Given the description of an element on the screen output the (x, y) to click on. 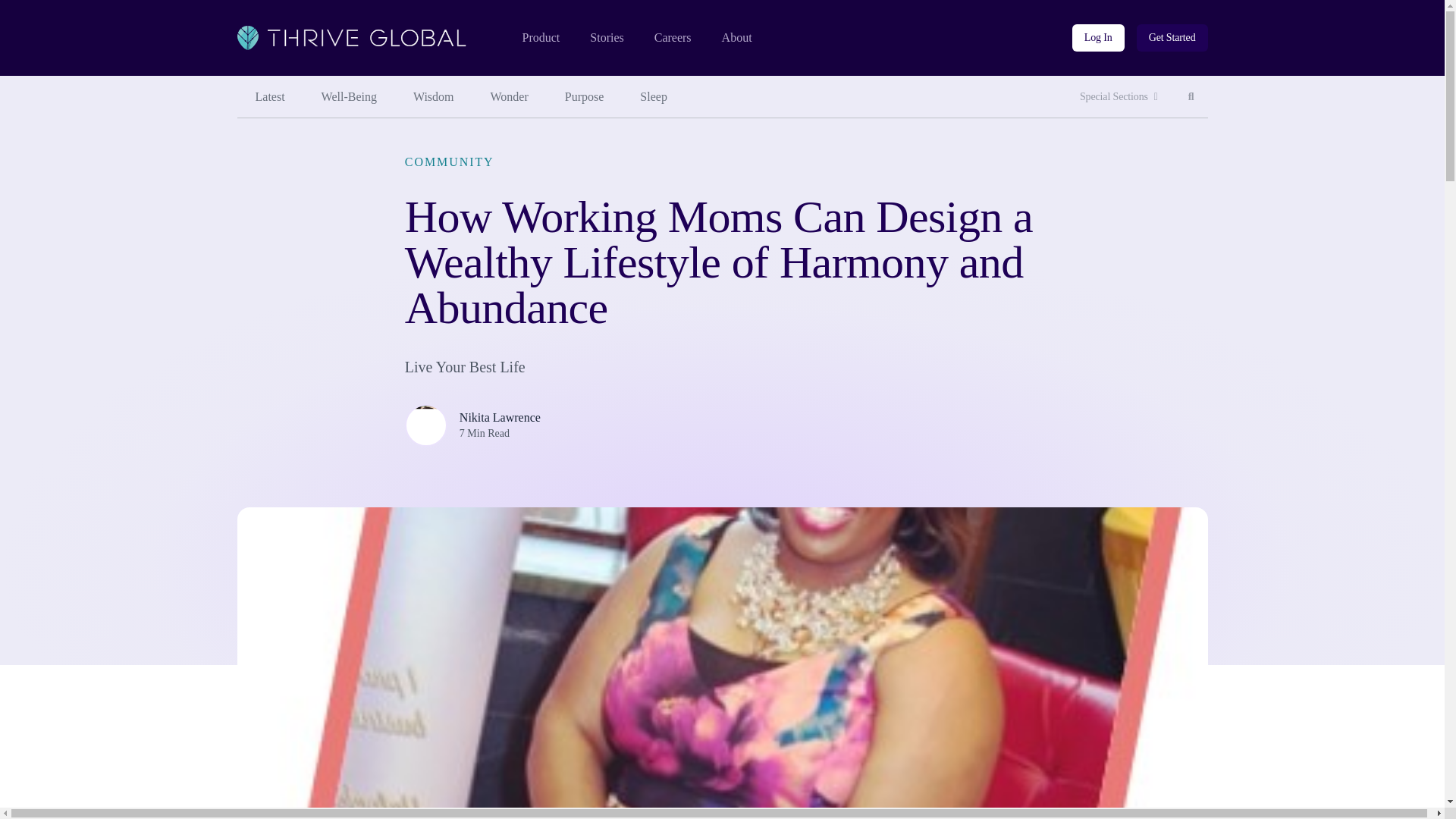
Stories (606, 37)
Well-Being (348, 96)
Sleep (653, 96)
Wonder (509, 96)
About (1191, 97)
Log In (737, 37)
Special Sections (1097, 37)
Purpose (1118, 97)
Get Started (585, 96)
